Given the description of an element on the screen output the (x, y) to click on. 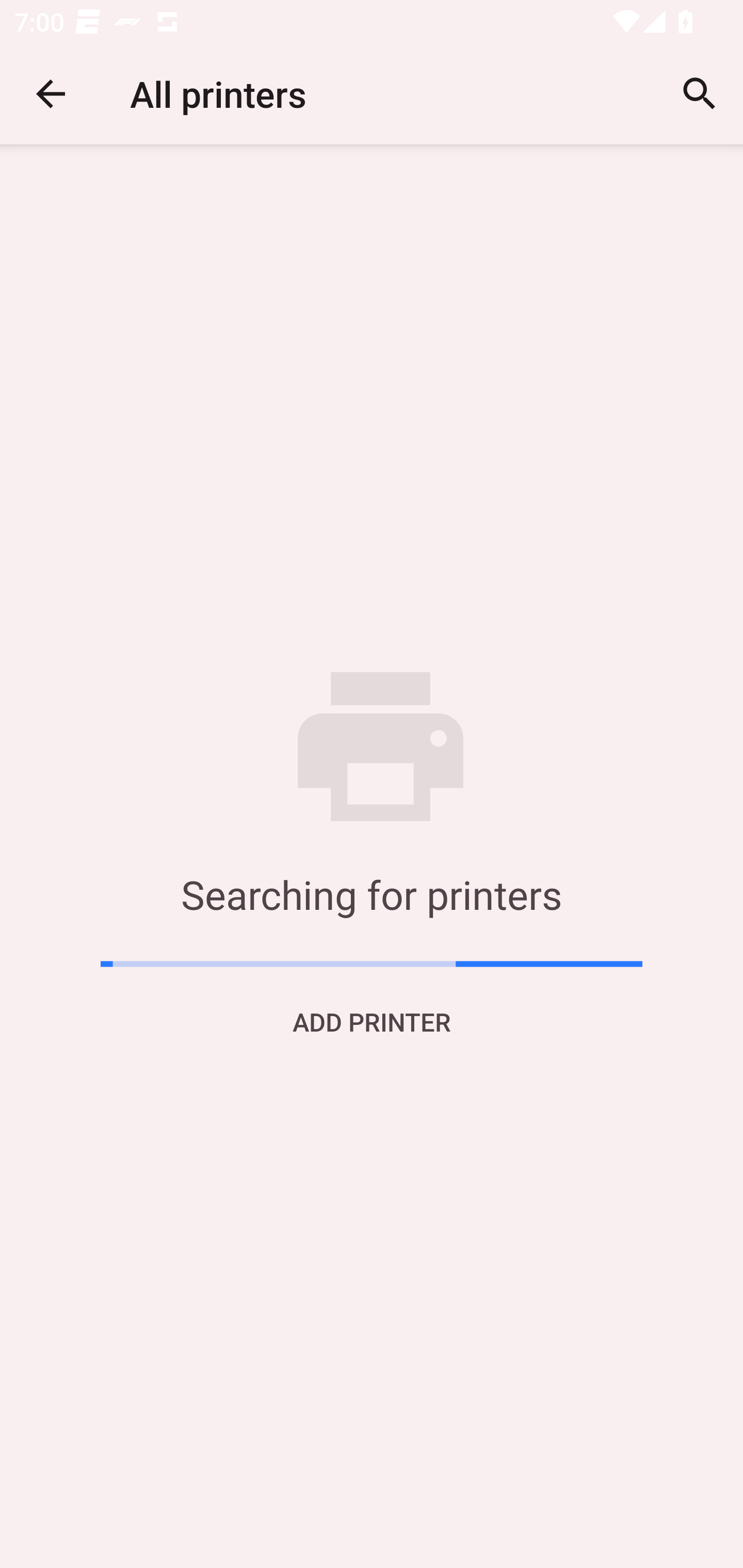
Navigate up (50, 93)
Search (699, 93)
ADD PRINTER (371, 1021)
